Given the description of an element on the screen output the (x, y) to click on. 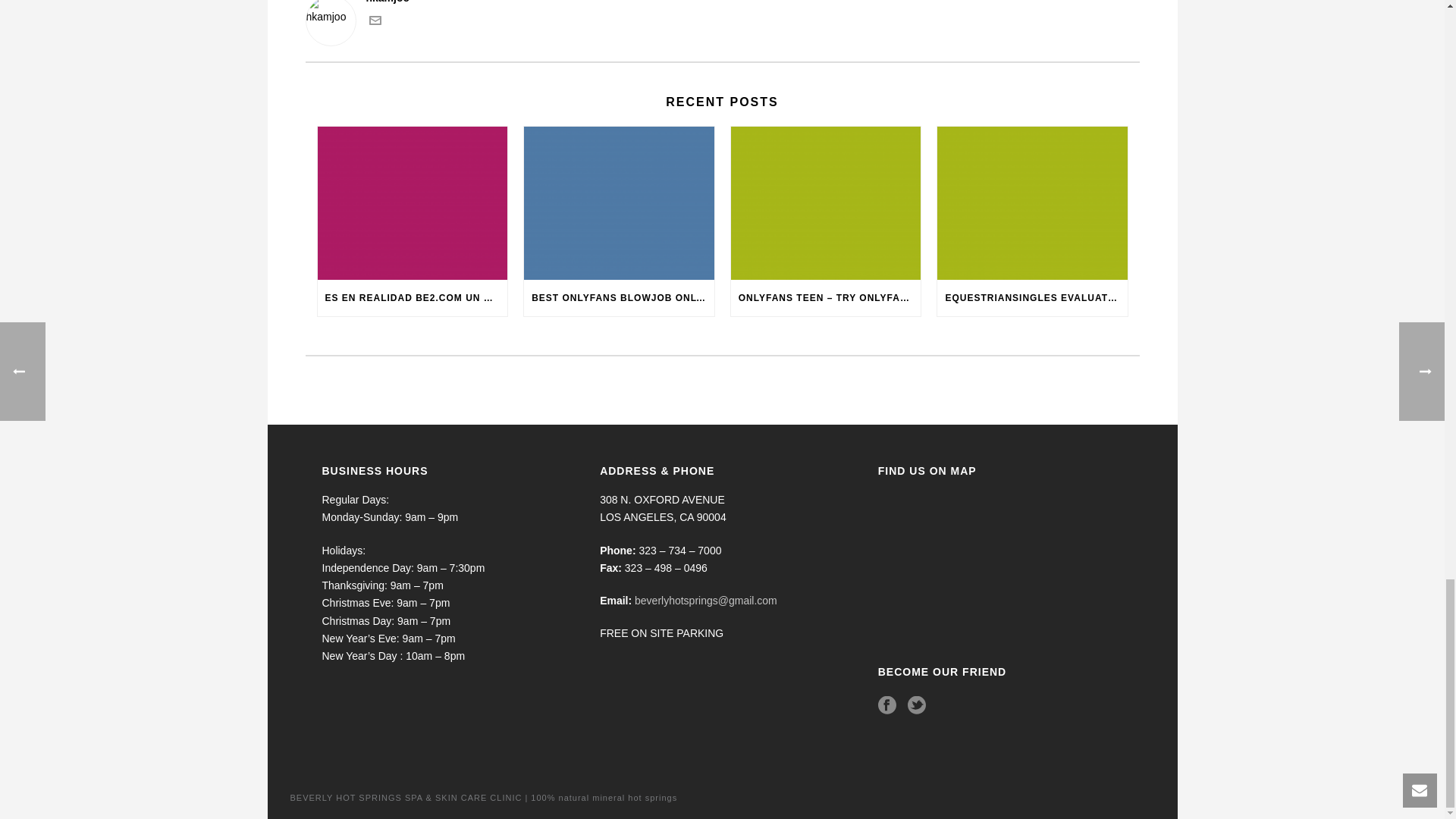
Follow Us on facebook (886, 705)
Follow Us on twitter (916, 705)
EquestrianSingles  Evaluation  2021 (1031, 202)
Best Onlyfans Blowjob OnlyFans Online (619, 202)
Get in touch with me via email (374, 22)
